Given the description of an element on the screen output the (x, y) to click on. 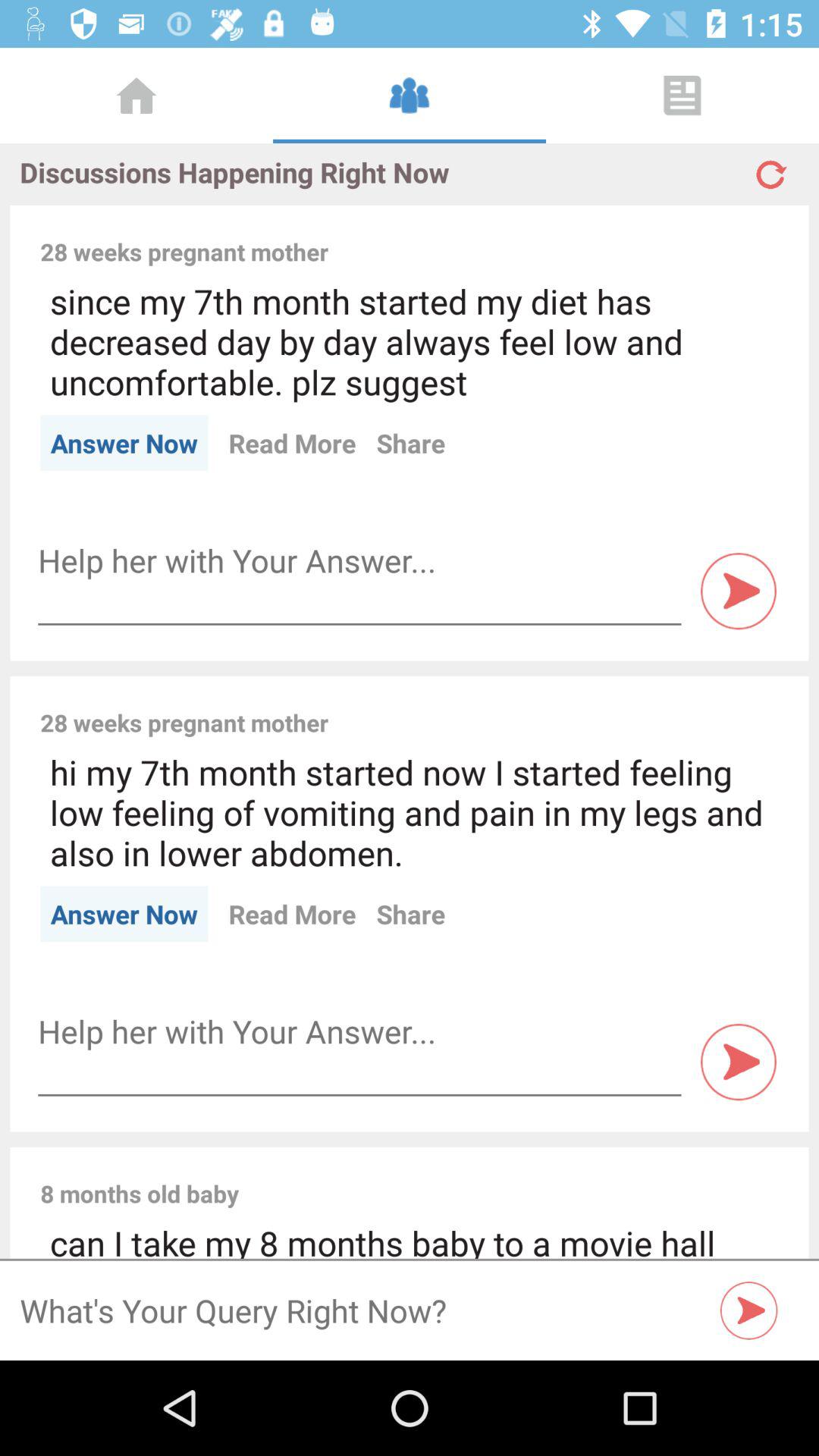
refresh page (768, 168)
